Given the description of an element on the screen output the (x, y) to click on. 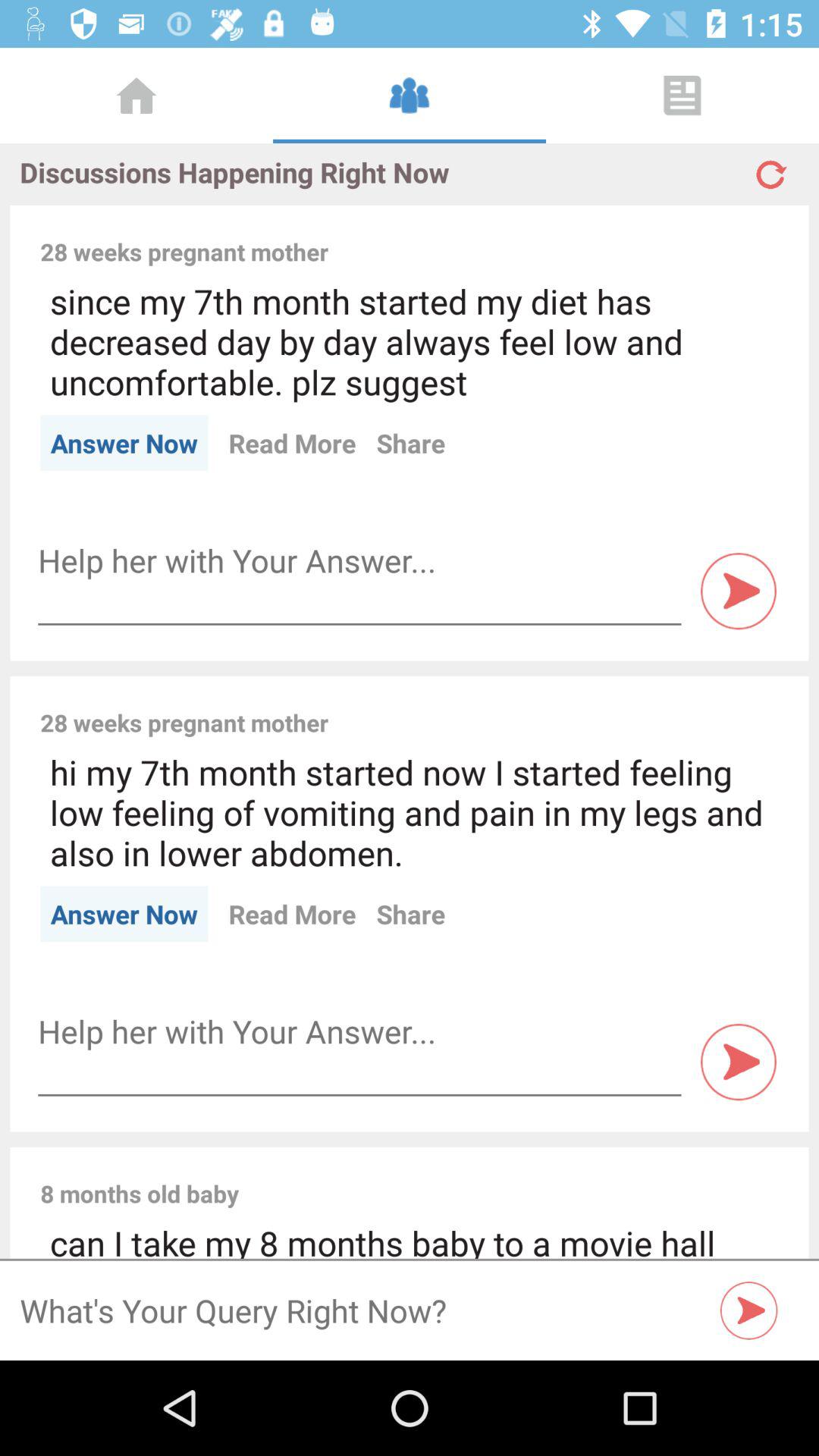
refresh page (768, 168)
